Given the description of an element on the screen output the (x, y) to click on. 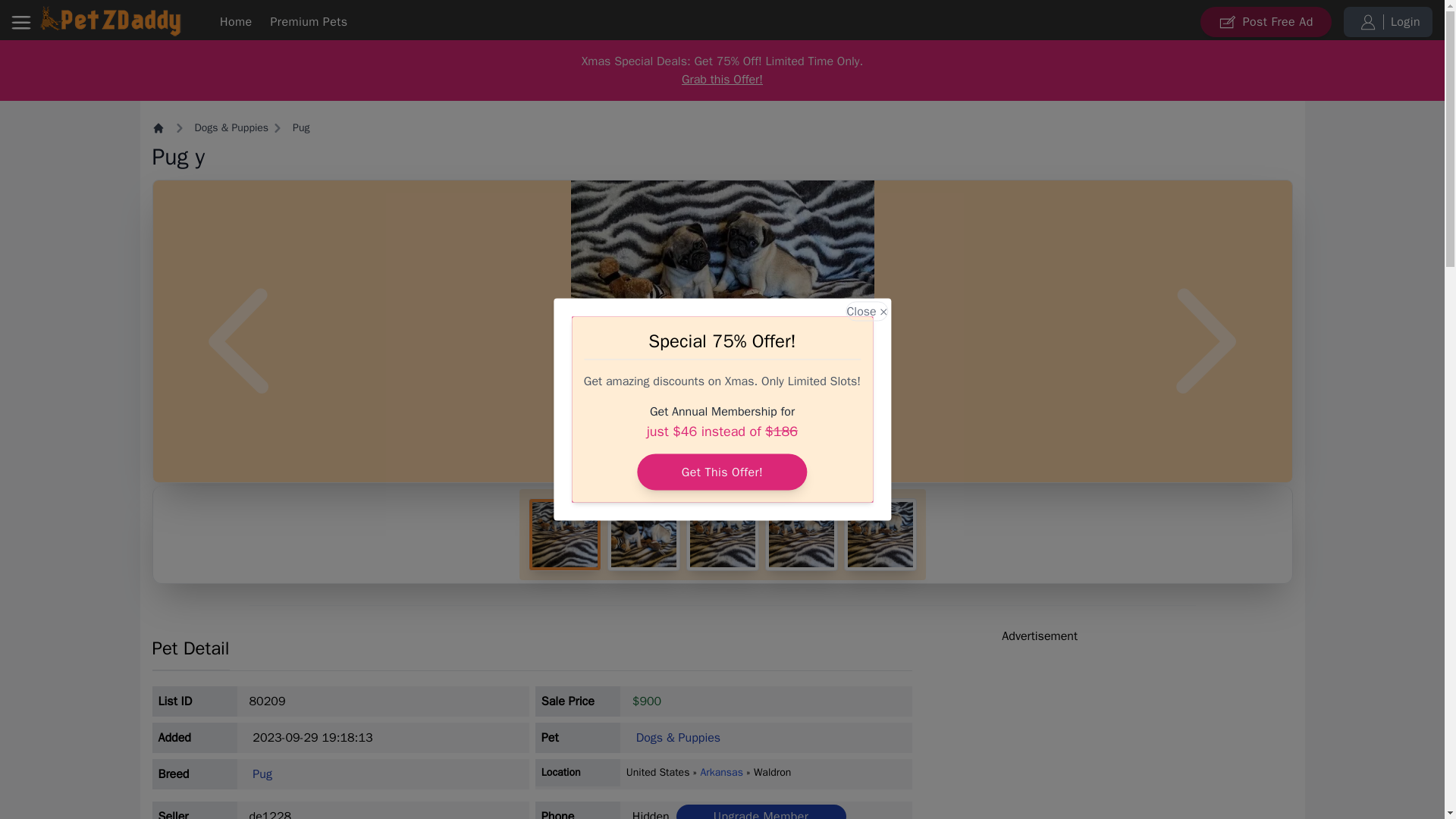
Arkansas (721, 771)
Home (235, 21)
de1228 (269, 814)
Home (308, 21)
Upgrade Member (761, 811)
Home (160, 128)
de1228 (269, 814)
Upgrade Membership to See Phone Number Details (761, 811)
Home (235, 21)
Pug (300, 127)
Premium Pets (308, 21)
Login (1387, 20)
Post Free Ad (1265, 20)
